Given the description of an element on the screen output the (x, y) to click on. 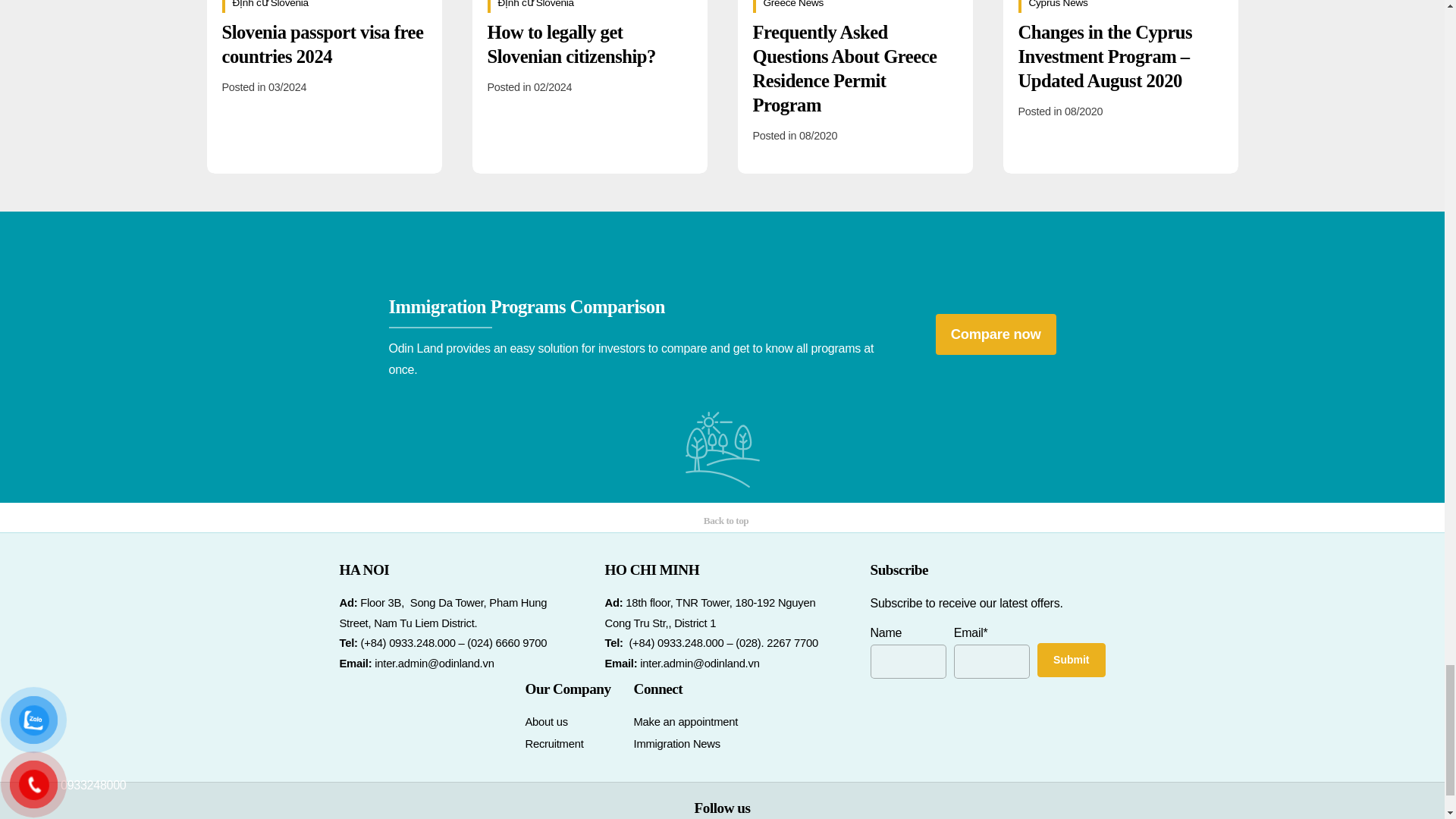
Submit (1070, 659)
